Given the description of an element on the screen output the (x, y) to click on. 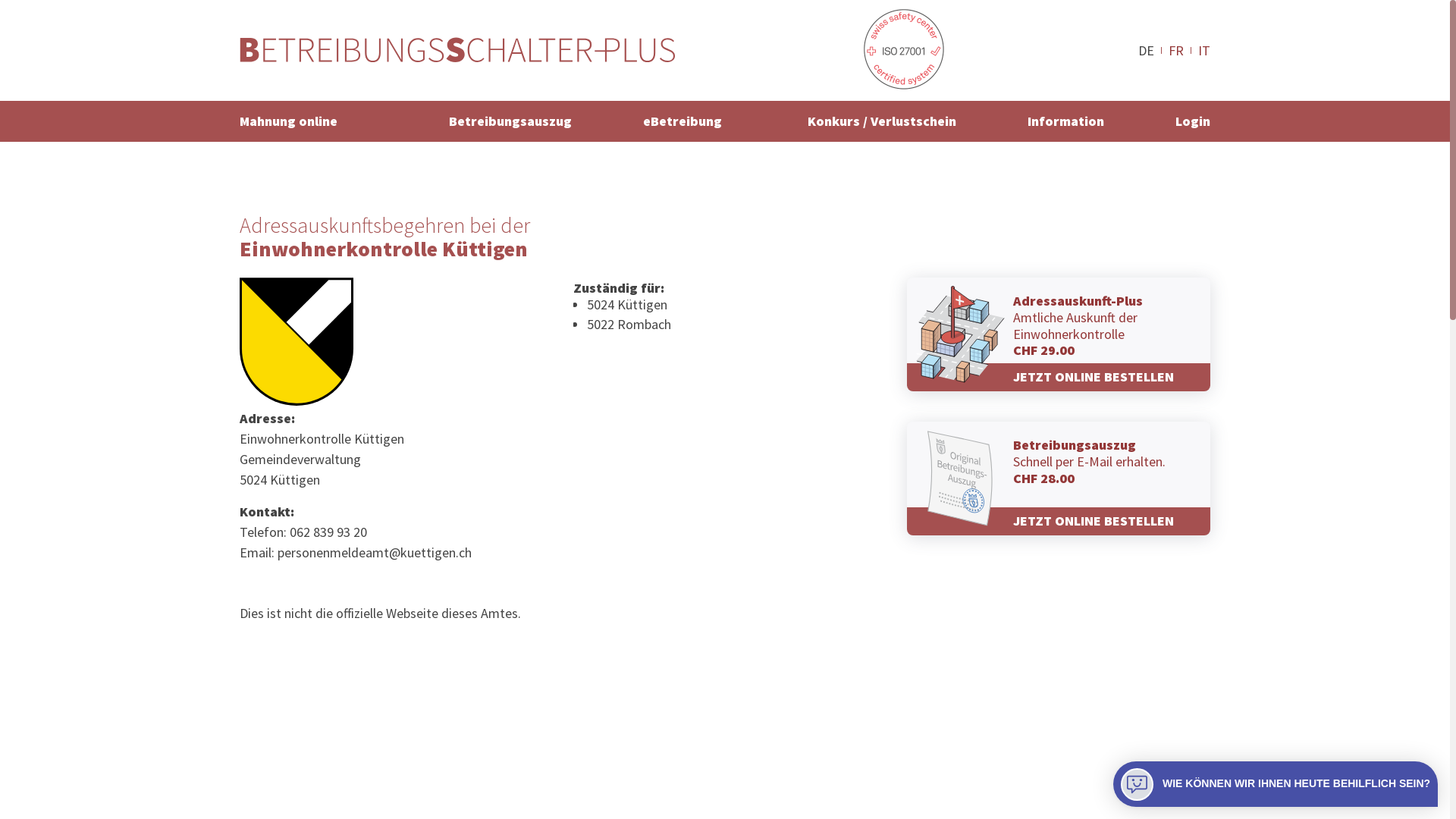
Mahnung online Element type: text (292, 121)
Konkurs / Verlustschein Element type: text (882, 121)
eBetreibung Element type: text (682, 121)
FR Element type: text (1175, 49)
Information Element type: text (1065, 121)
Betreibungsauszug Element type: text (510, 121)
Login Element type: text (1188, 121)
IT Element type: text (1204, 49)
